Given the description of an element on the screen output the (x, y) to click on. 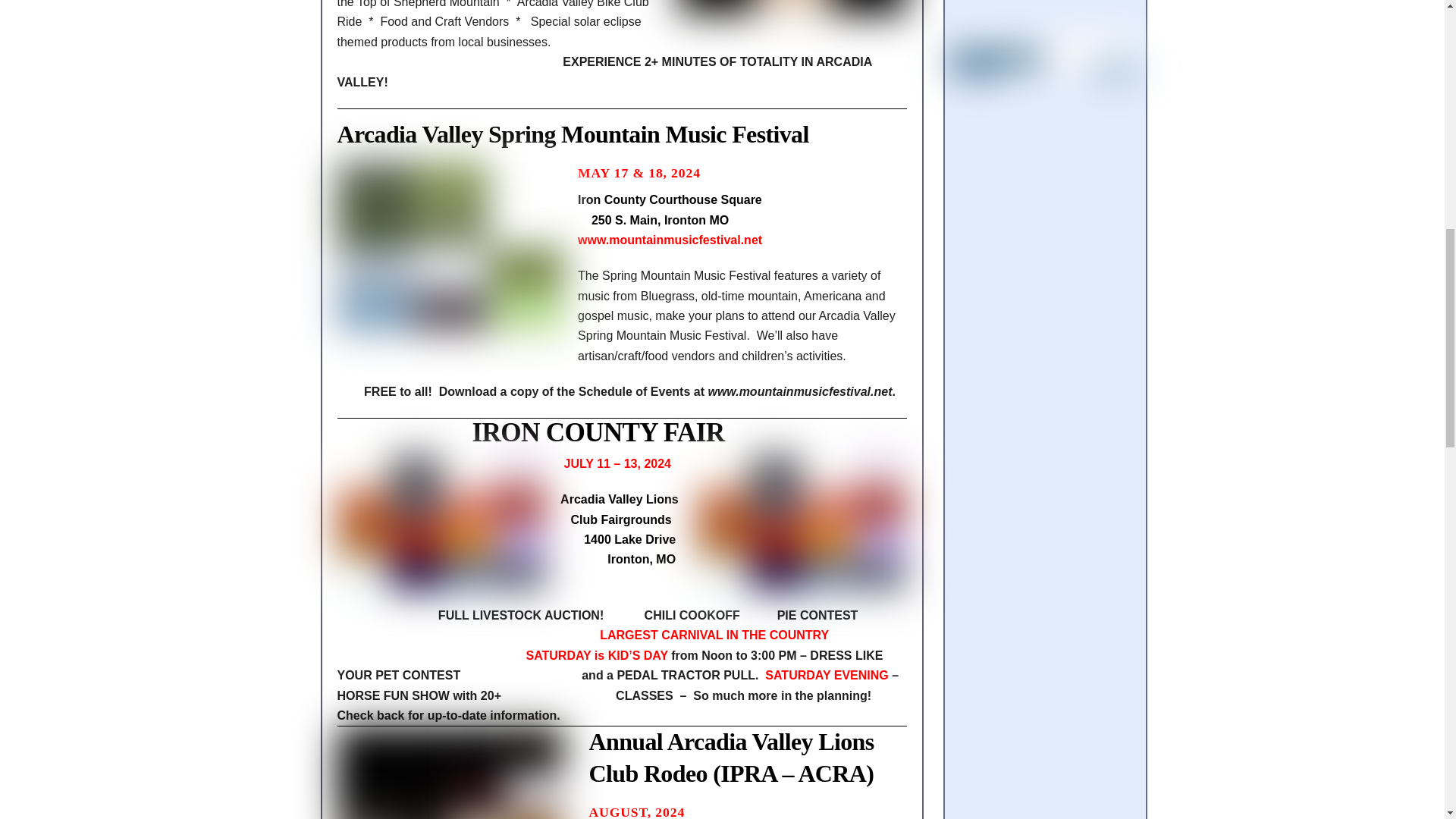
www.mountainmusicfestival.net (669, 239)
